Given the description of an element on the screen output the (x, y) to click on. 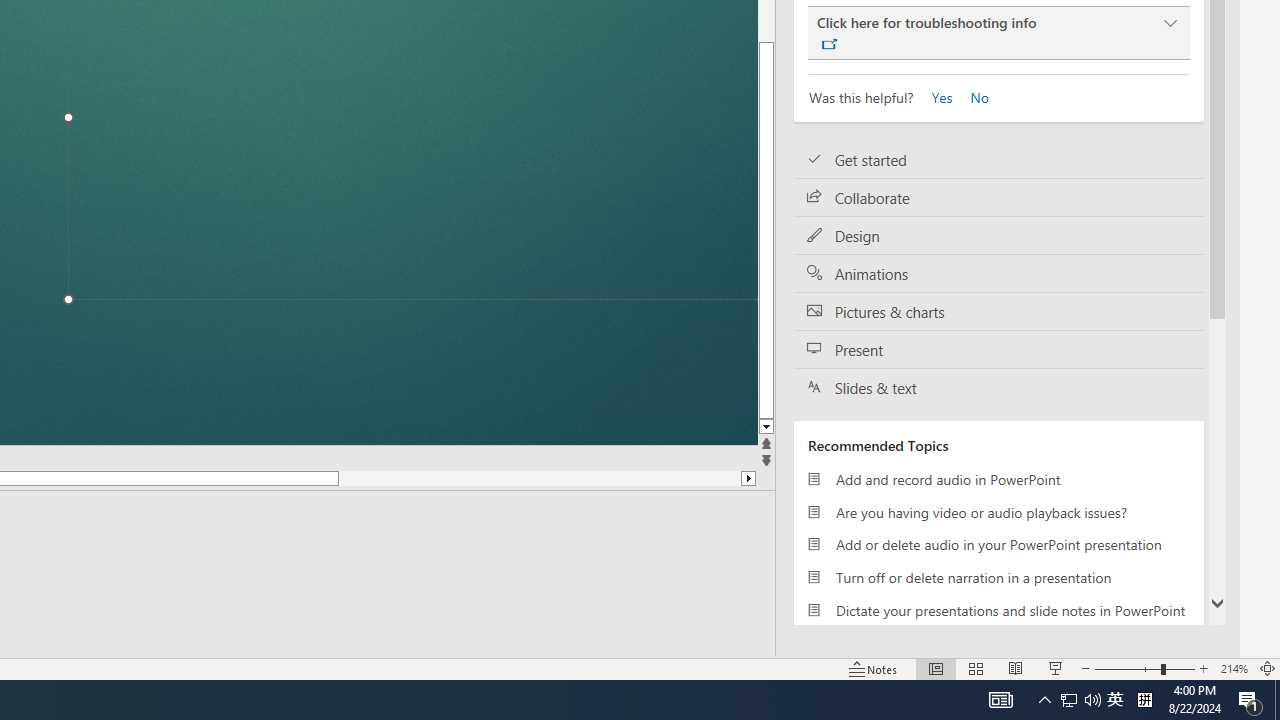
Add and record audio in PowerPoint (998, 479)
Click here for troubleshooting info (998, 33)
Animations (998, 273)
Get started (998, 160)
No (972, 96)
Present (998, 349)
Zoom Out (1127, 668)
Zoom 214% (1234, 668)
Slide Sorter (975, 668)
Zoom to Fit  (1267, 668)
Yes (936, 96)
Line down (911, 427)
Add or delete audio in your PowerPoint presentation (998, 544)
Collaborate (998, 197)
